Given the description of an element on the screen output the (x, y) to click on. 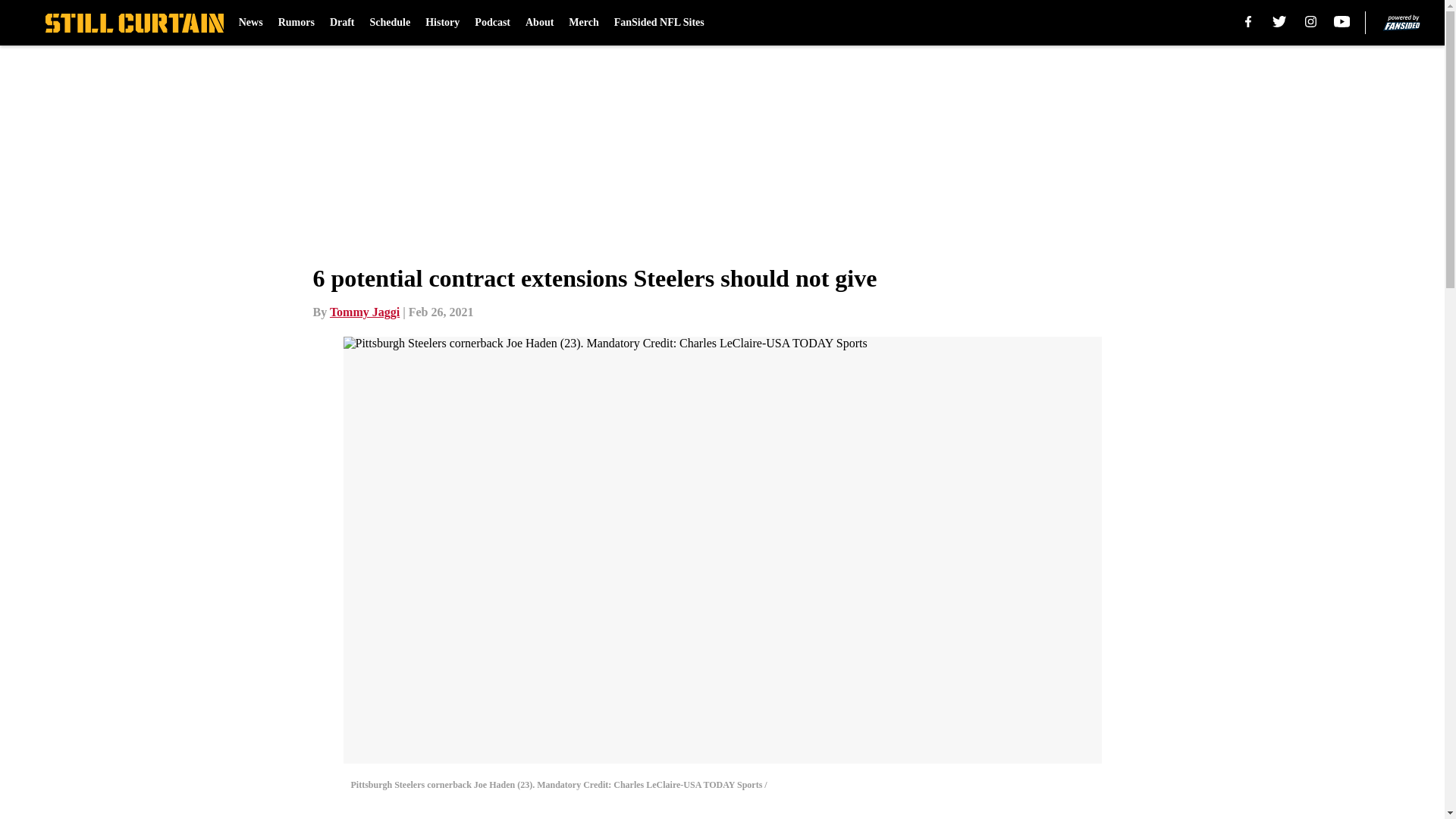
Tommy Jaggi (364, 311)
FanSided NFL Sites (659, 22)
Schedule (389, 22)
History (442, 22)
Rumors (296, 22)
Draft (342, 22)
Podcast (492, 22)
News (250, 22)
About (539, 22)
Merch (583, 22)
